Given the description of an element on the screen output the (x, y) to click on. 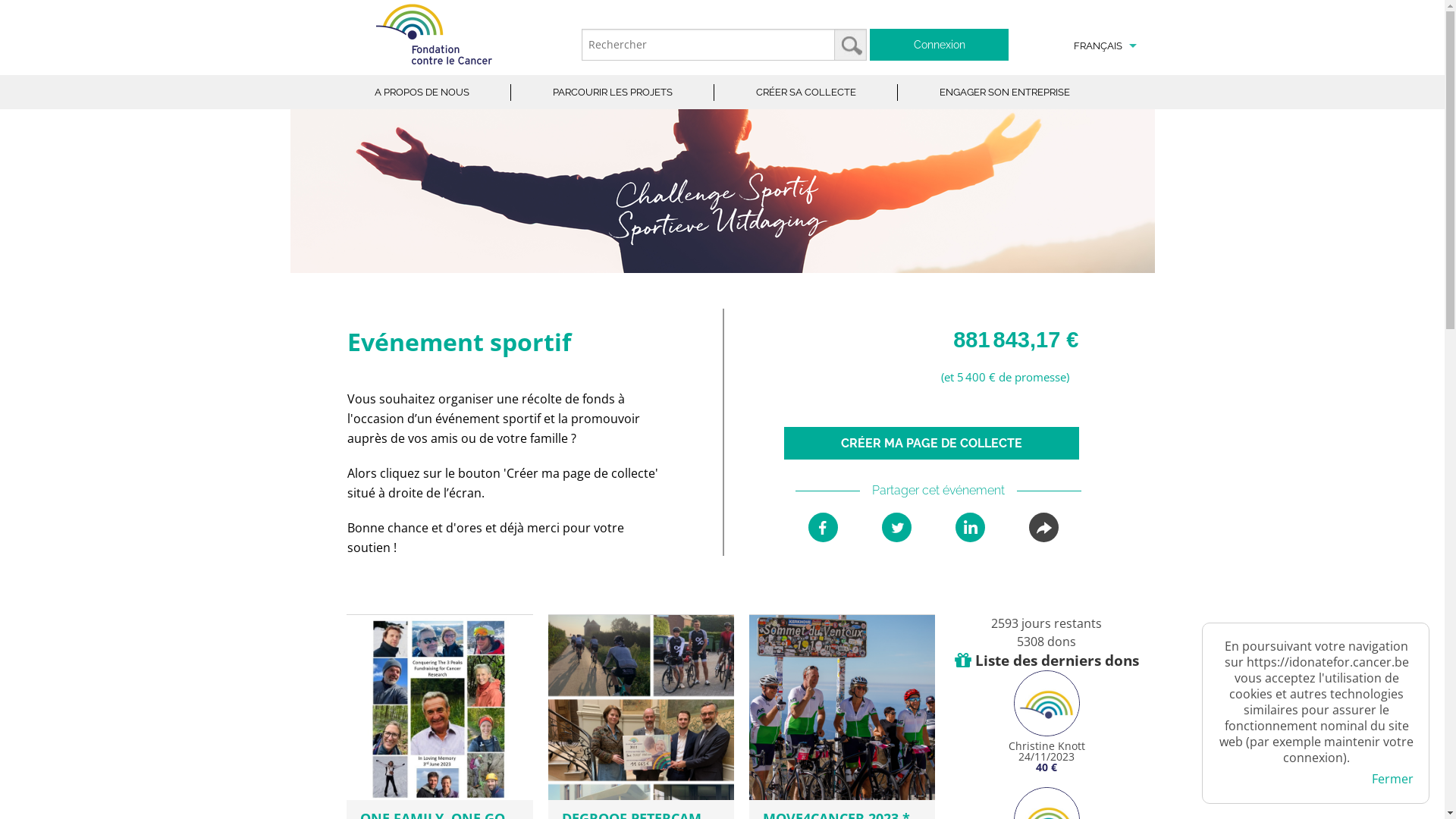
PARCOURIR LES PROJETS Element type: text (612, 92)
Connexion Element type: text (938, 44)
A PROPOS DE NOUS Element type: text (421, 92)
NEDERLANDS Element type: text (1096, 79)
ENGAGER SON ENTREPRISE Element type: text (1004, 92)
